Given the description of an element on the screen output the (x, y) to click on. 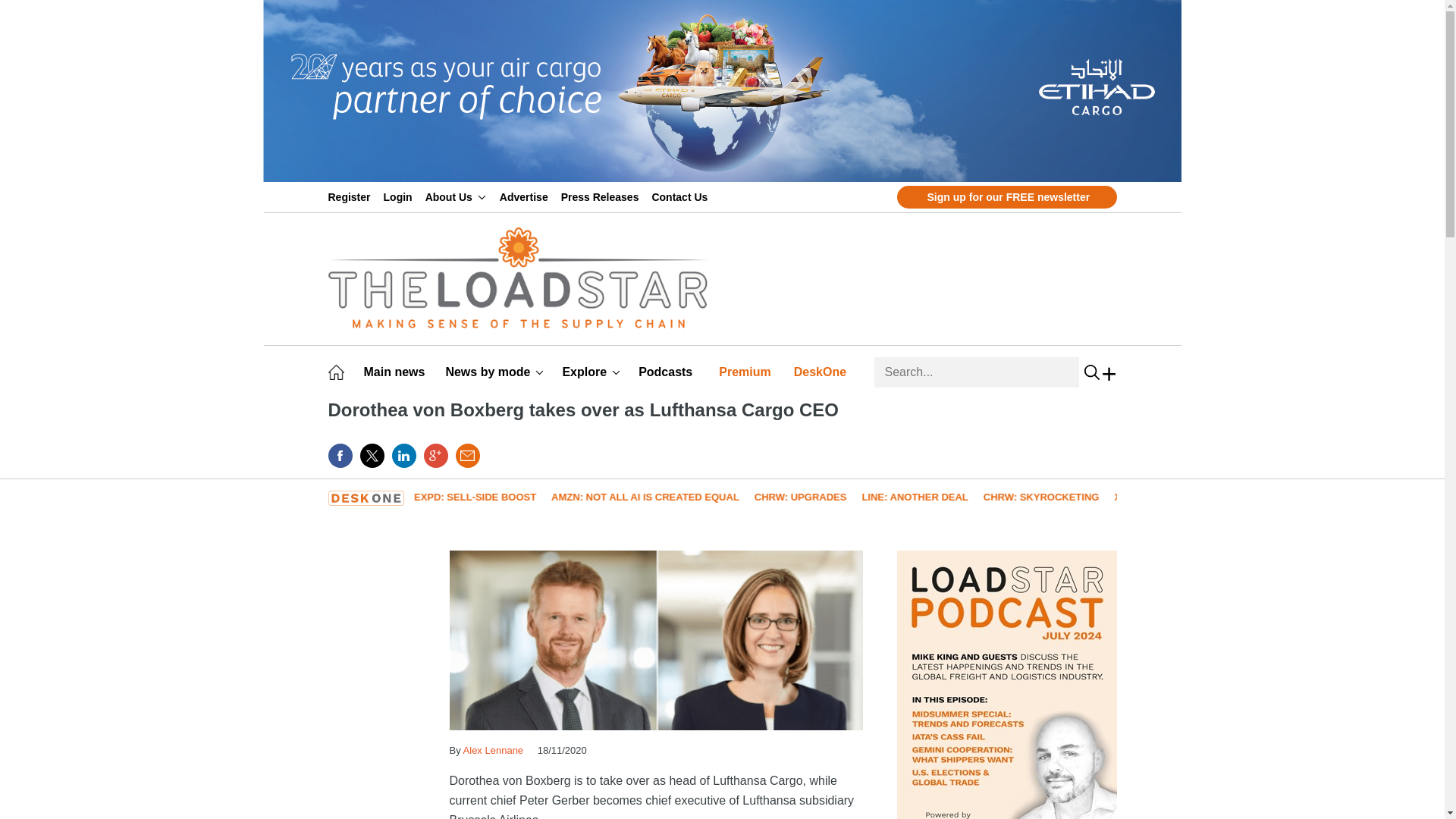
Loadstar Premium (747, 371)
Premium (747, 371)
Advertise (526, 196)
Explore (591, 371)
Main news (397, 371)
Press Releases (602, 196)
Register (351, 196)
Press Releases (602, 196)
Register (351, 196)
News by mode (494, 371)
Contact Us (681, 196)
Podcasts (668, 371)
Advertise (526, 196)
Contact Us (681, 196)
About Us (455, 196)
